Given the description of an element on the screen output the (x, y) to click on. 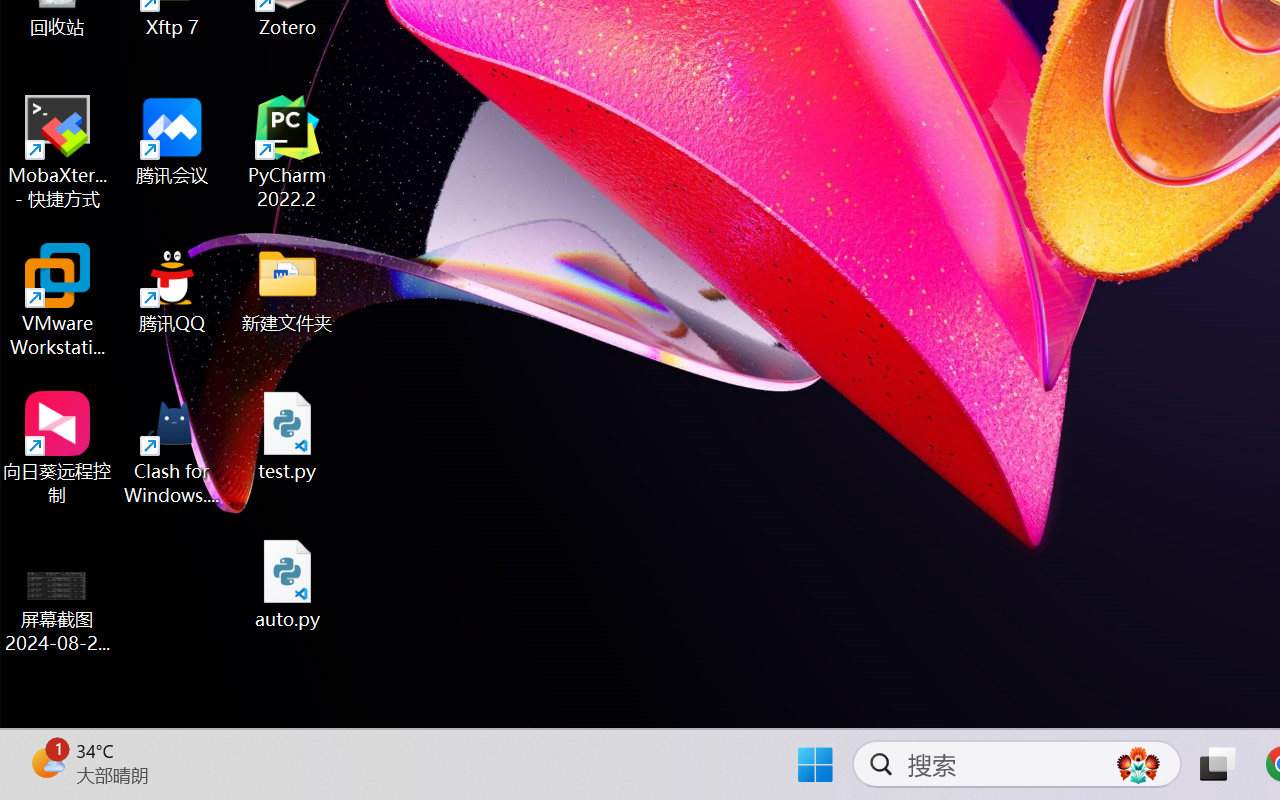
test.py (287, 436)
